Given the description of an element on the screen output the (x, y) to click on. 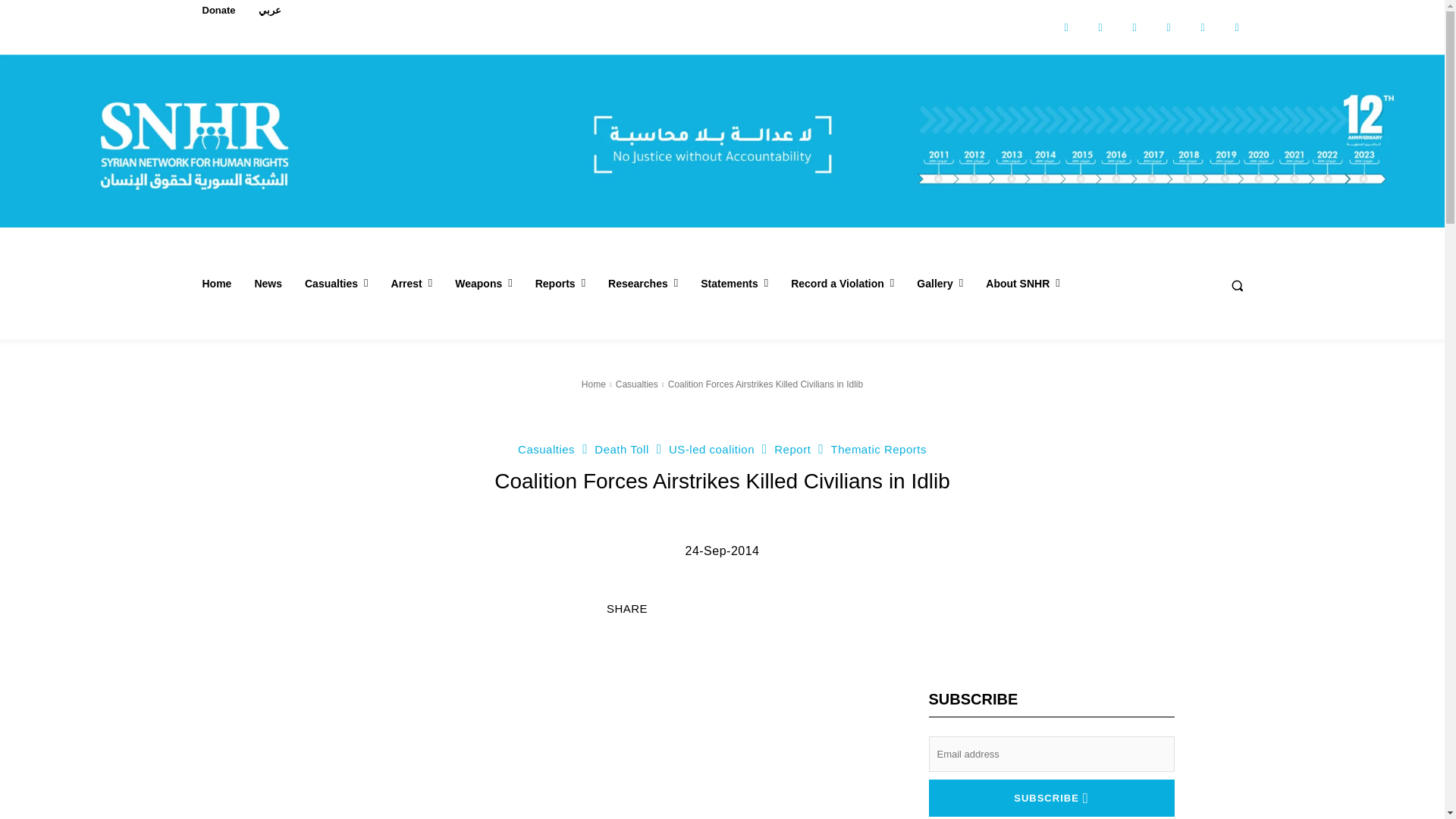
Telegram (1169, 26)
Instagram (1100, 26)
Youtube (1237, 26)
Twitter (1202, 26)
Paypal (1134, 26)
Facebook (1065, 26)
